Given the description of an element on the screen output the (x, y) to click on. 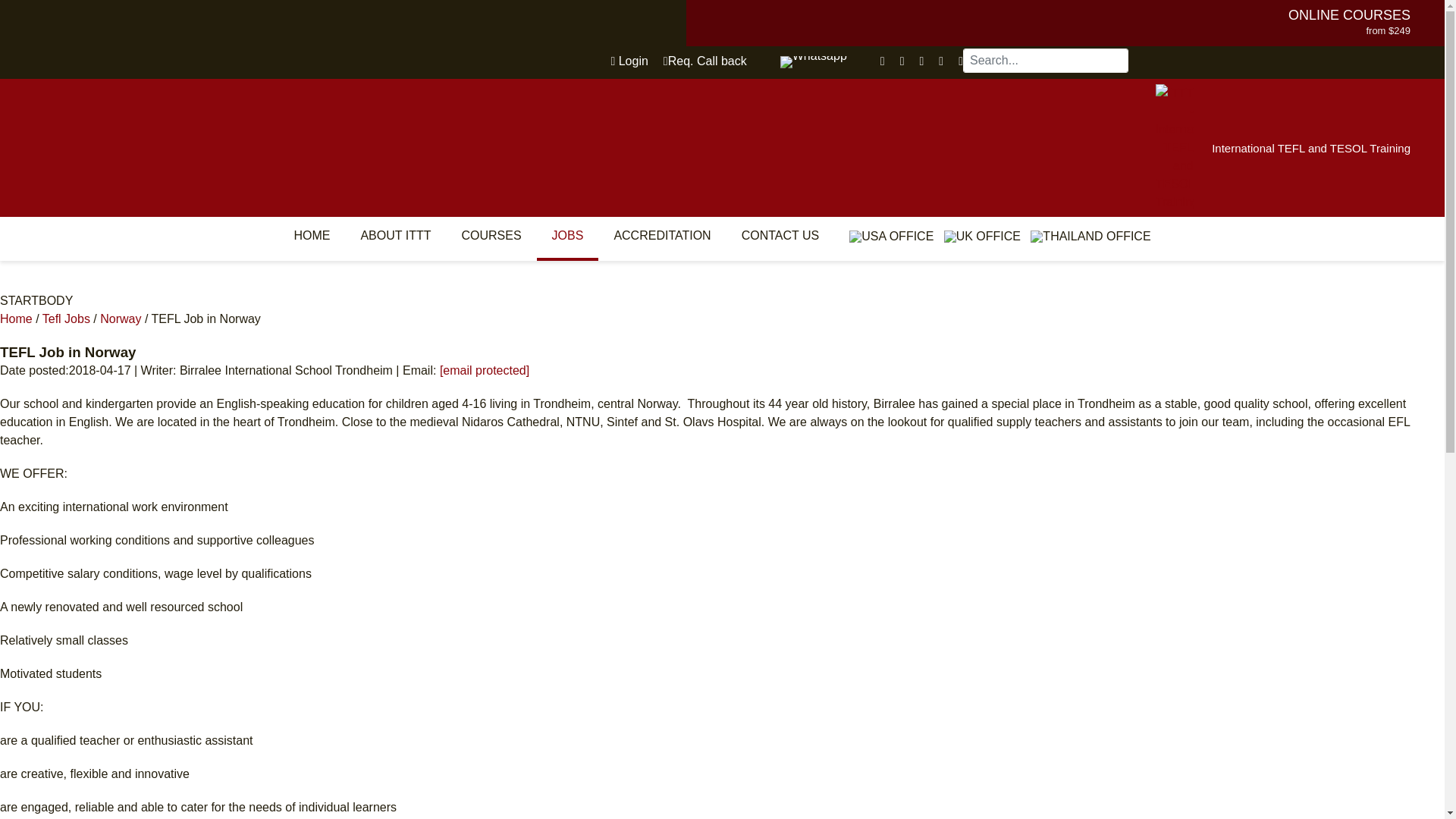
CONTACT US (780, 235)
Req. Call back (704, 61)
ACCREDITATION (661, 235)
ONLINE COURSES (1349, 14)
Request a call back (704, 61)
International TEFL and TESOL Training (1310, 147)
JOBS (567, 235)
USA Office (890, 236)
Chat with us on Whatsapp (813, 61)
Login (628, 61)
